Given the description of an element on the screen output the (x, y) to click on. 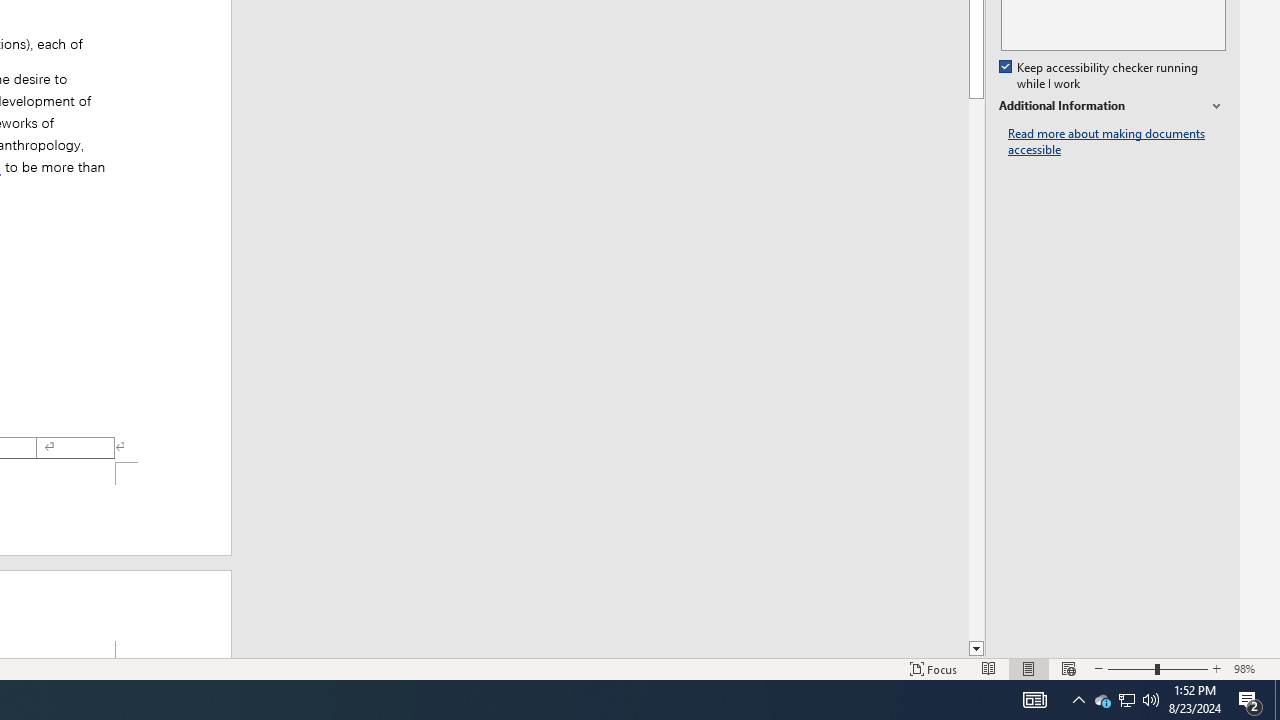
Focus  (934, 668)
Zoom Out (1131, 668)
Read more about making documents accessible (1117, 142)
Zoom In (1217, 668)
Keep accessibility checker running while I work (1099, 76)
Additional Information (1112, 106)
Zoom (1158, 668)
